Given the description of an element on the screen output the (x, y) to click on. 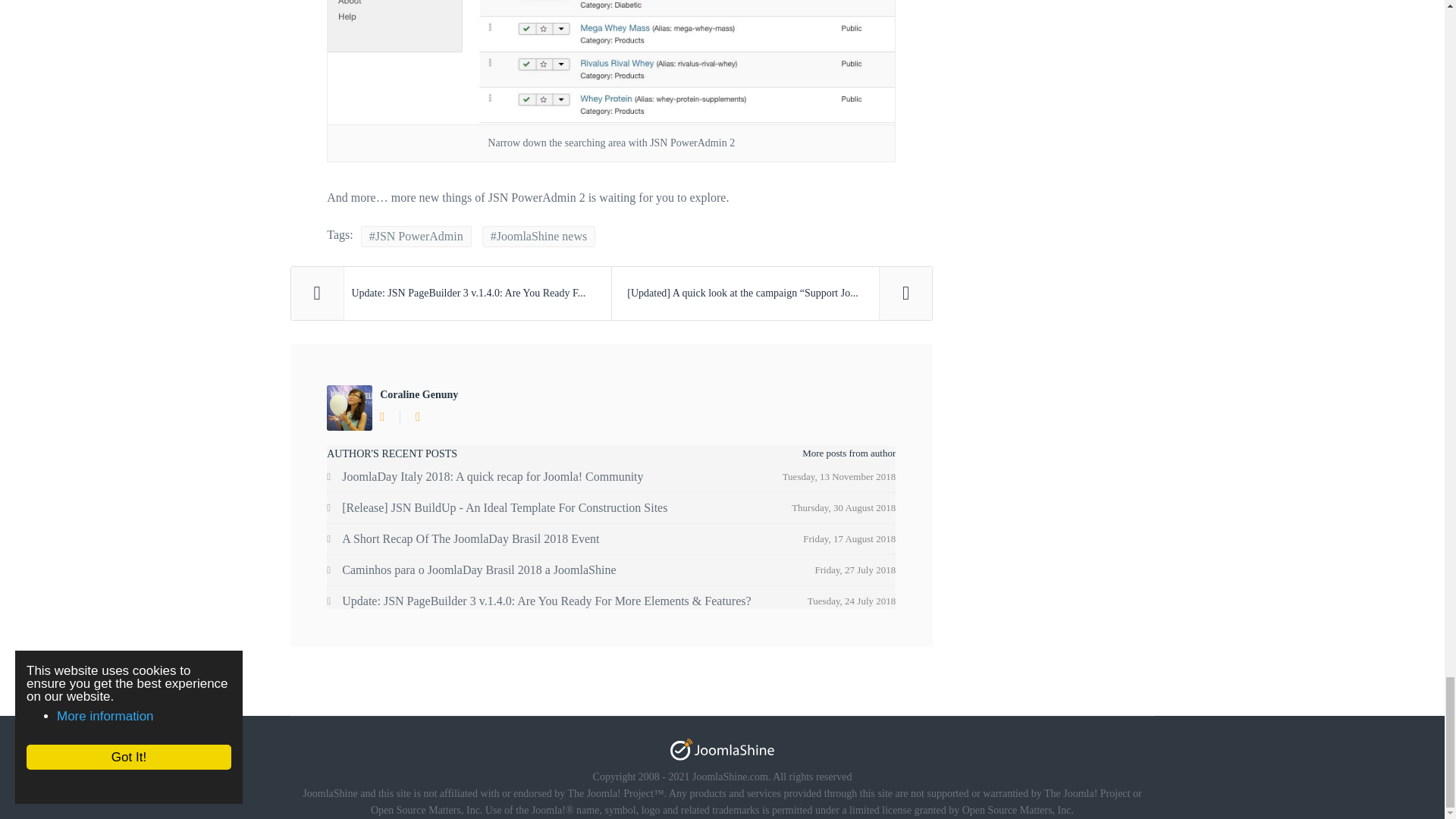
Update: JSN PageBuilder 3 v.1.4.0: Are You Ready F... (451, 293)
Coraline Genuny (419, 394)
JoomlaShine (721, 749)
JSN PowerAdmin (416, 236)
JoomlaShine news (538, 236)
